Given the description of an element on the screen output the (x, y) to click on. 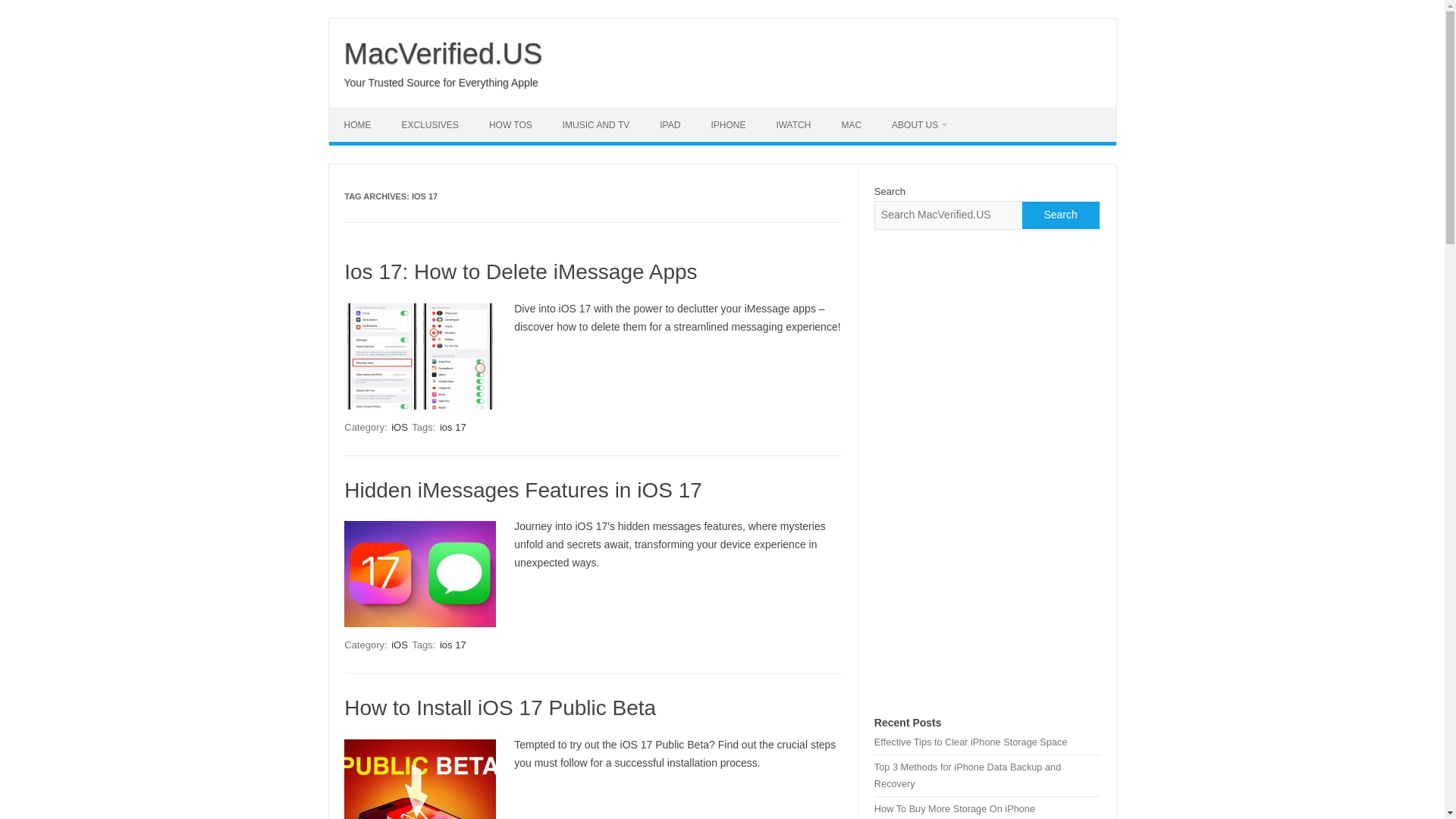
Permalink to How to Install iOS 17 Public Beta (499, 707)
iOS (399, 644)
ABOUT US (919, 124)
How to Install iOS 17 Public Beta (499, 707)
HOW TOS (510, 124)
IPAD (670, 124)
Permalink to Ios 17: How to Delete iMessage Apps (520, 271)
ios 17 (452, 427)
Hidden iMessages Features in iOS 17 (522, 490)
iOS (399, 427)
EXCLUSIVES (430, 124)
ios 17 (452, 644)
IPHONE (727, 124)
